Given the description of an element on the screen output the (x, y) to click on. 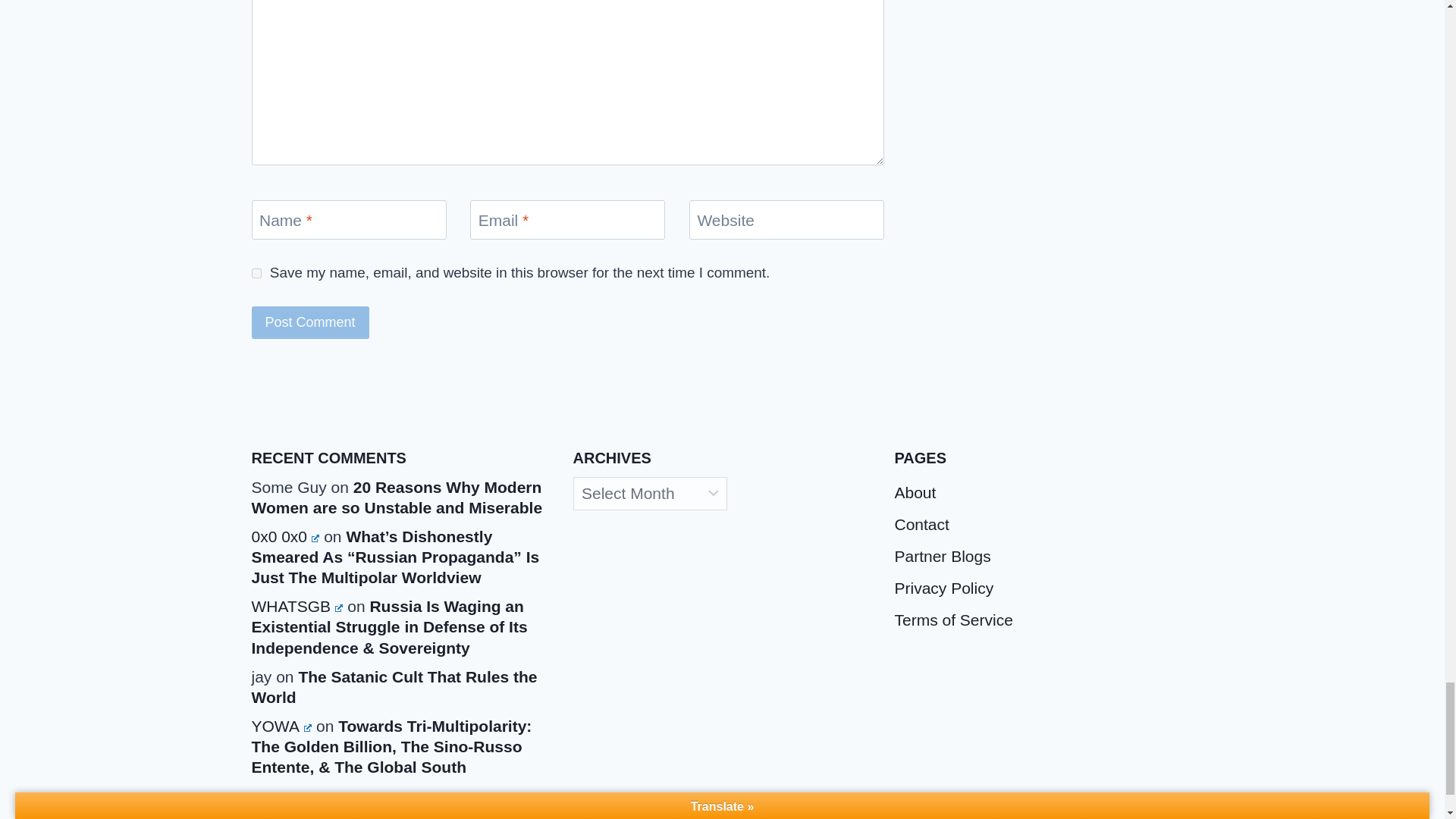
Post Comment (310, 322)
yes (256, 273)
